Given the description of an element on the screen output the (x, y) to click on. 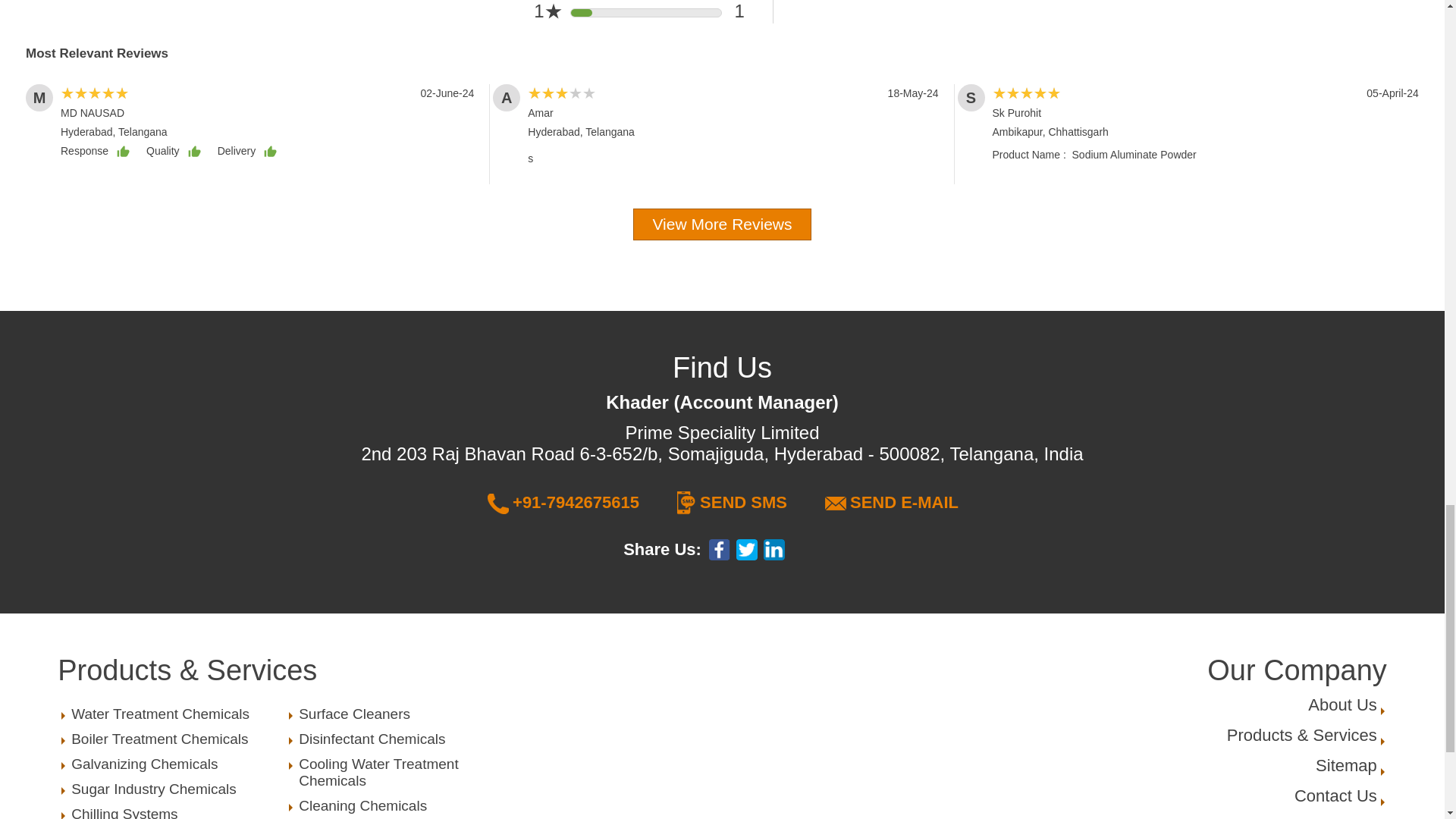
Sugar Industry Chemicals (172, 789)
Cooling Water Treatment Chemicals (399, 772)
Cleaning Chemicals (399, 805)
Boiler Treatment Chemicals (172, 739)
View More Reviews (721, 224)
Disinfectant Chemicals (399, 739)
Chilling Systems (172, 812)
Galvanizing Chemicals (1342, 704)
